Given the description of an element on the screen output the (x, y) to click on. 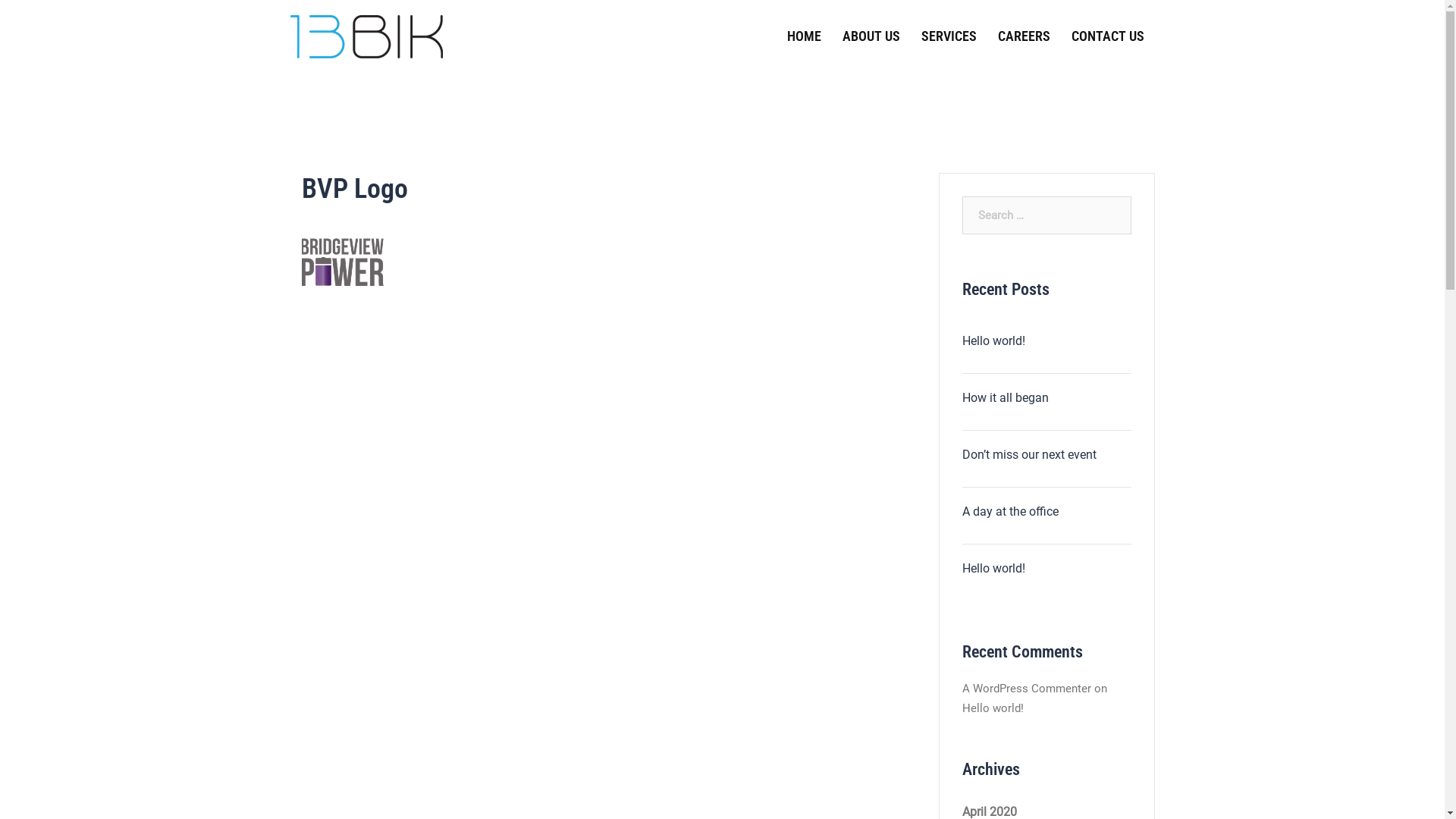
CONTACT US Element type: text (1106, 36)
ABOUT US Element type: text (870, 36)
HOME Element type: text (804, 36)
Search Element type: text (84, 18)
How it all began Element type: text (1045, 398)
A day at the office Element type: text (1045, 511)
CAREERS Element type: text (1023, 36)
Hello world! Element type: text (1045, 341)
A WordPress Commenter Element type: text (1025, 688)
SERVICES Element type: text (947, 36)
Skip to content Element type: text (0, 0)
Hello world! Element type: text (991, 707)
13BIK Element type: hover (365, 35)
Hello world! Element type: text (1045, 568)
